Given the description of an element on the screen output the (x, y) to click on. 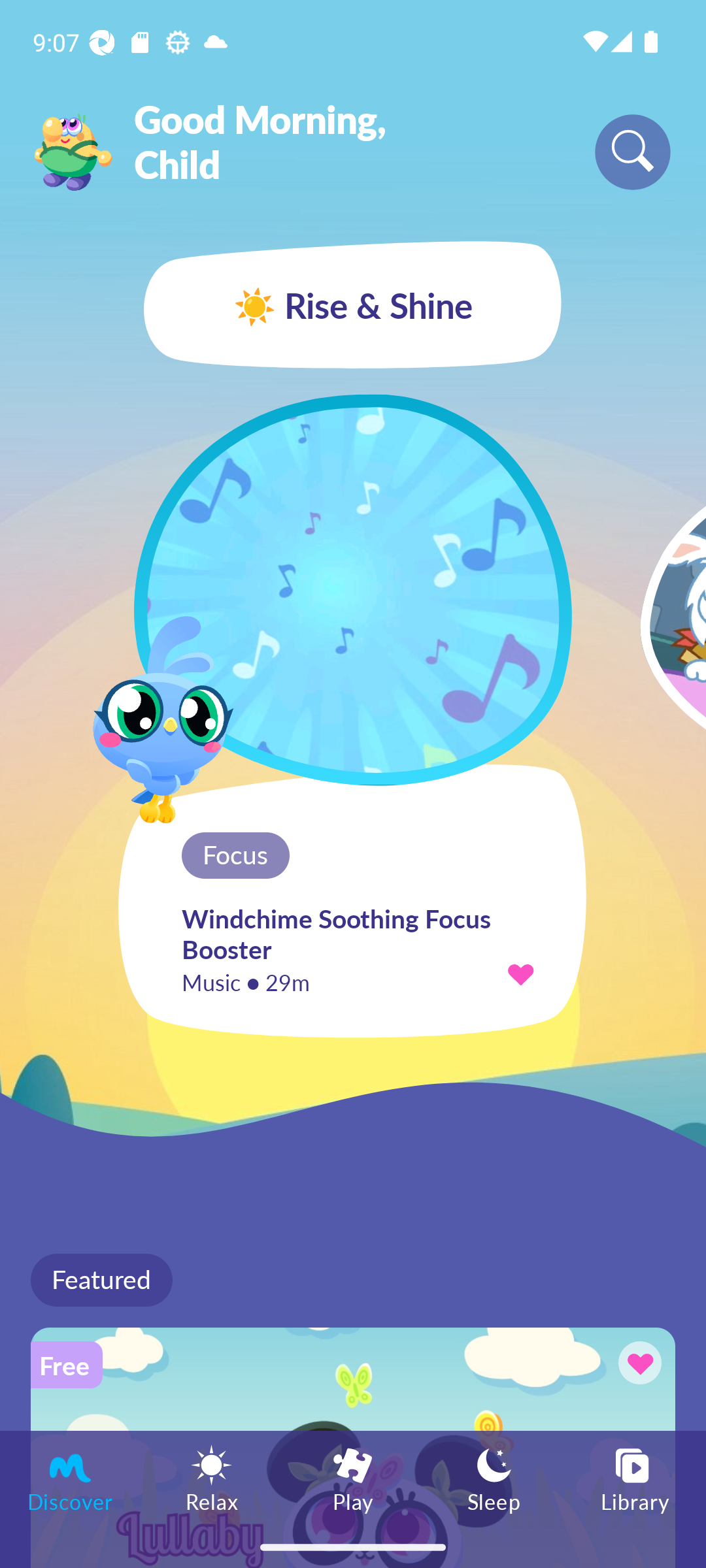
Search (632, 151)
action (520, 973)
Button (636, 1365)
Relax (211, 1478)
Play (352, 1478)
Sleep (493, 1478)
Library (635, 1478)
